Given the description of an element on the screen output the (x, y) to click on. 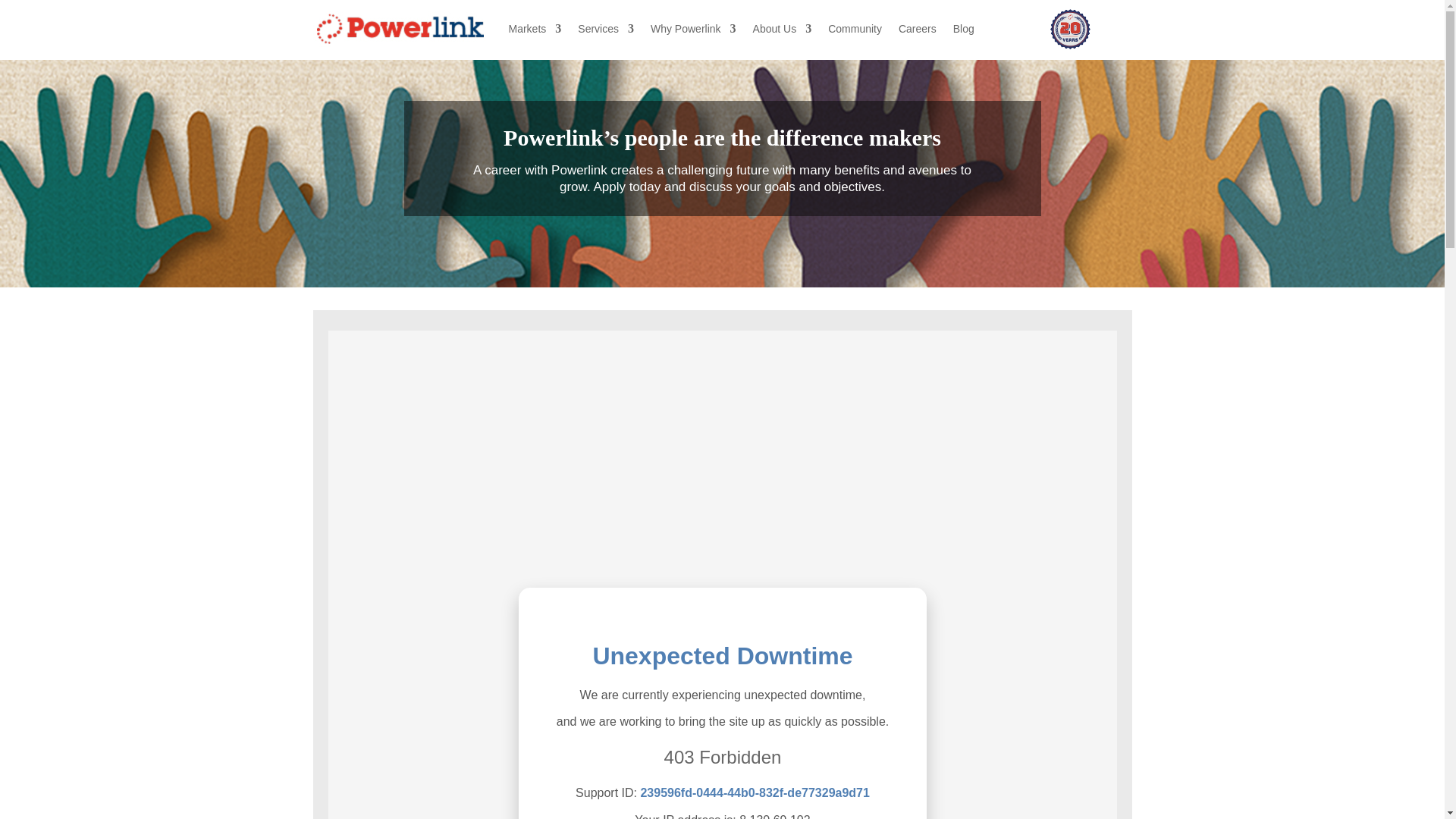
powerlink-20years (1069, 29)
Community (855, 28)
Why Powerlink (693, 28)
Services (605, 28)
About Us (782, 28)
Markets (534, 28)
